Given the description of an element on the screen output the (x, y) to click on. 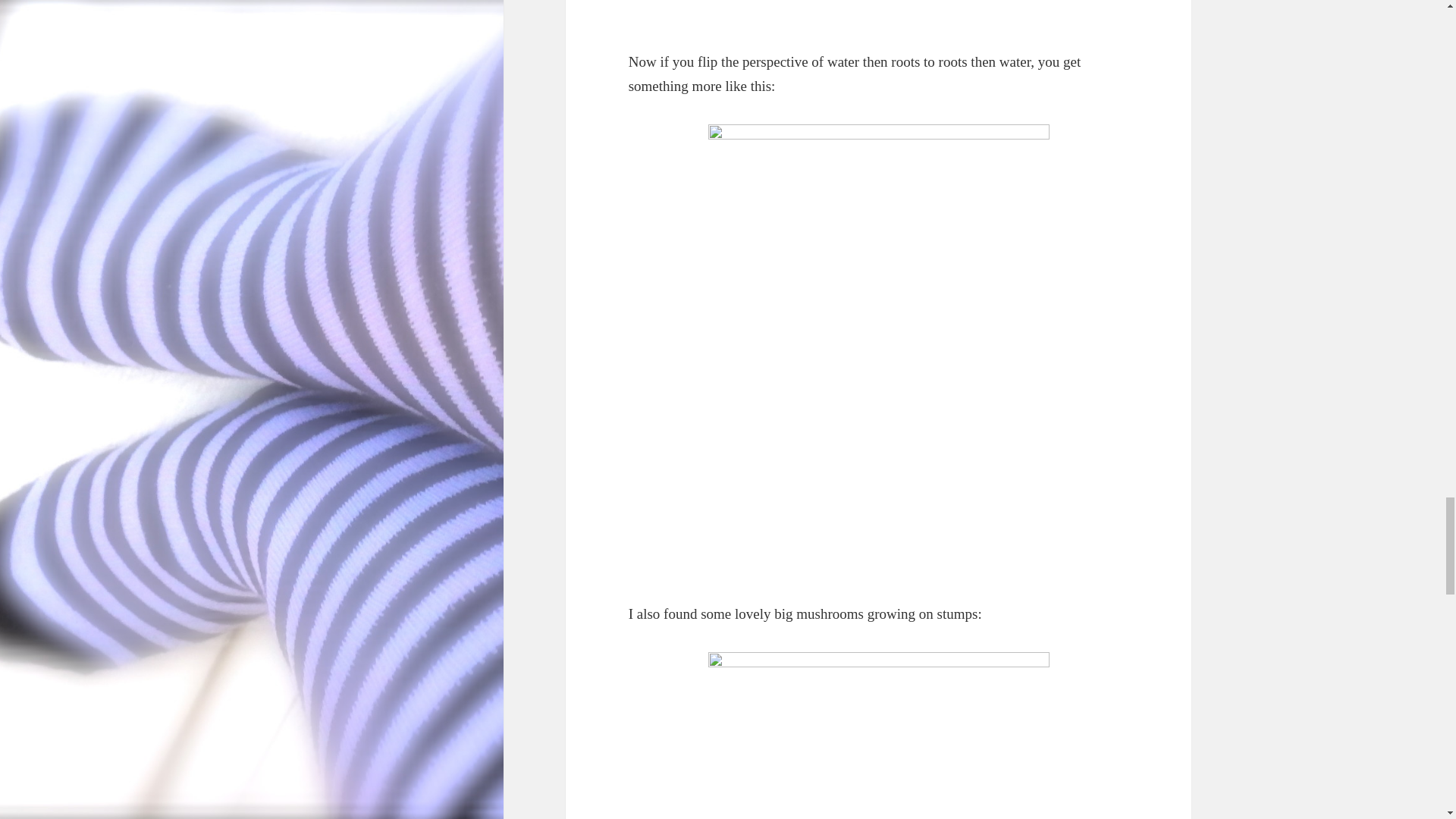
1007 will-big shrooms (878, 734)
1007 will-stump (878, 12)
